Given the description of an element on the screen output the (x, y) to click on. 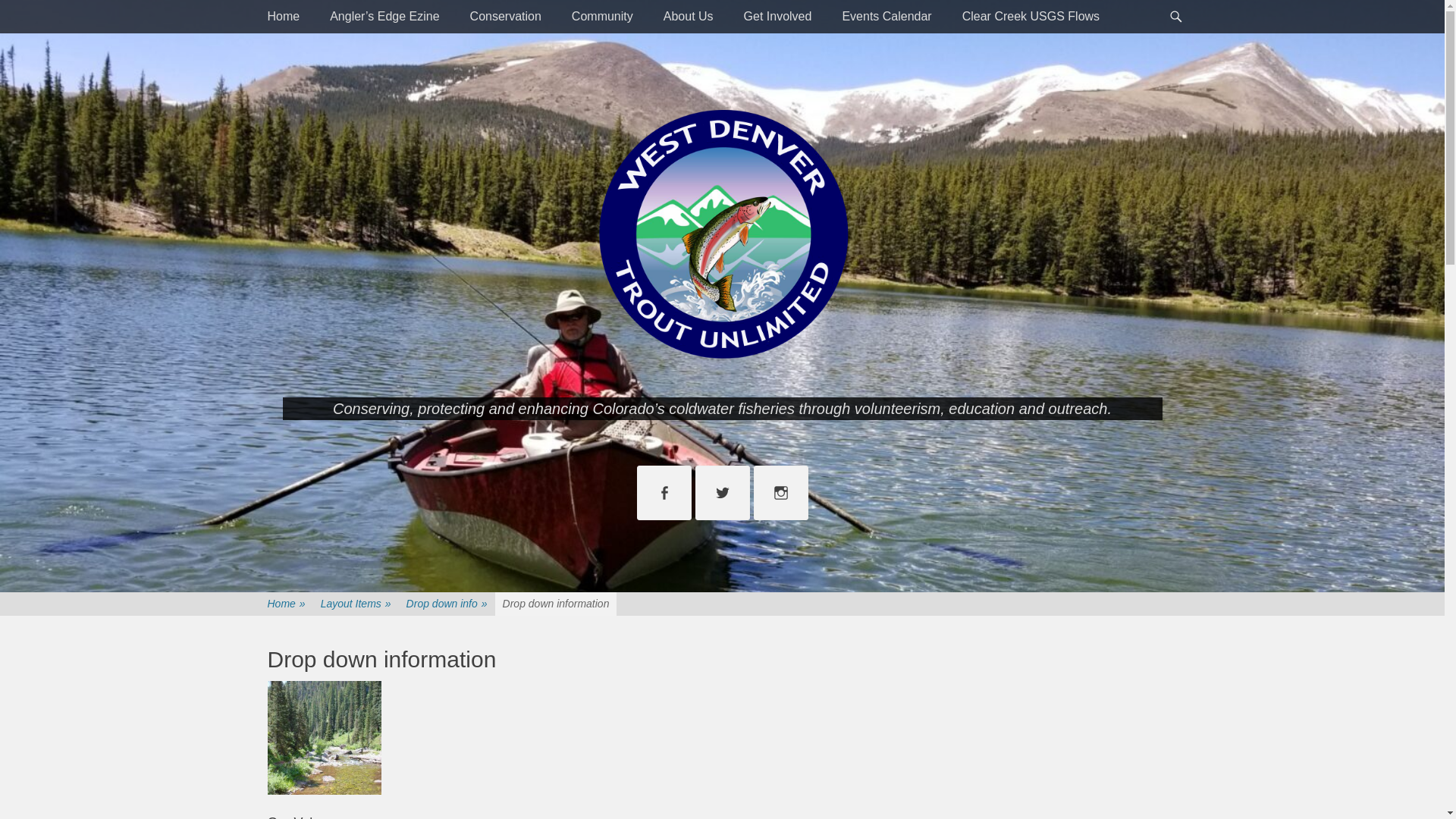
Community (601, 16)
Events Calendar (886, 16)
Home (282, 16)
Instagram (781, 493)
Facebook (664, 493)
Instagram (781, 493)
Twitter (721, 493)
Conservation (505, 16)
Facebook (664, 493)
Get Involved (778, 16)
Clear Creek USGS Flows (1031, 16)
About Us (688, 16)
Twitter (721, 493)
